Given the description of an element on the screen output the (x, y) to click on. 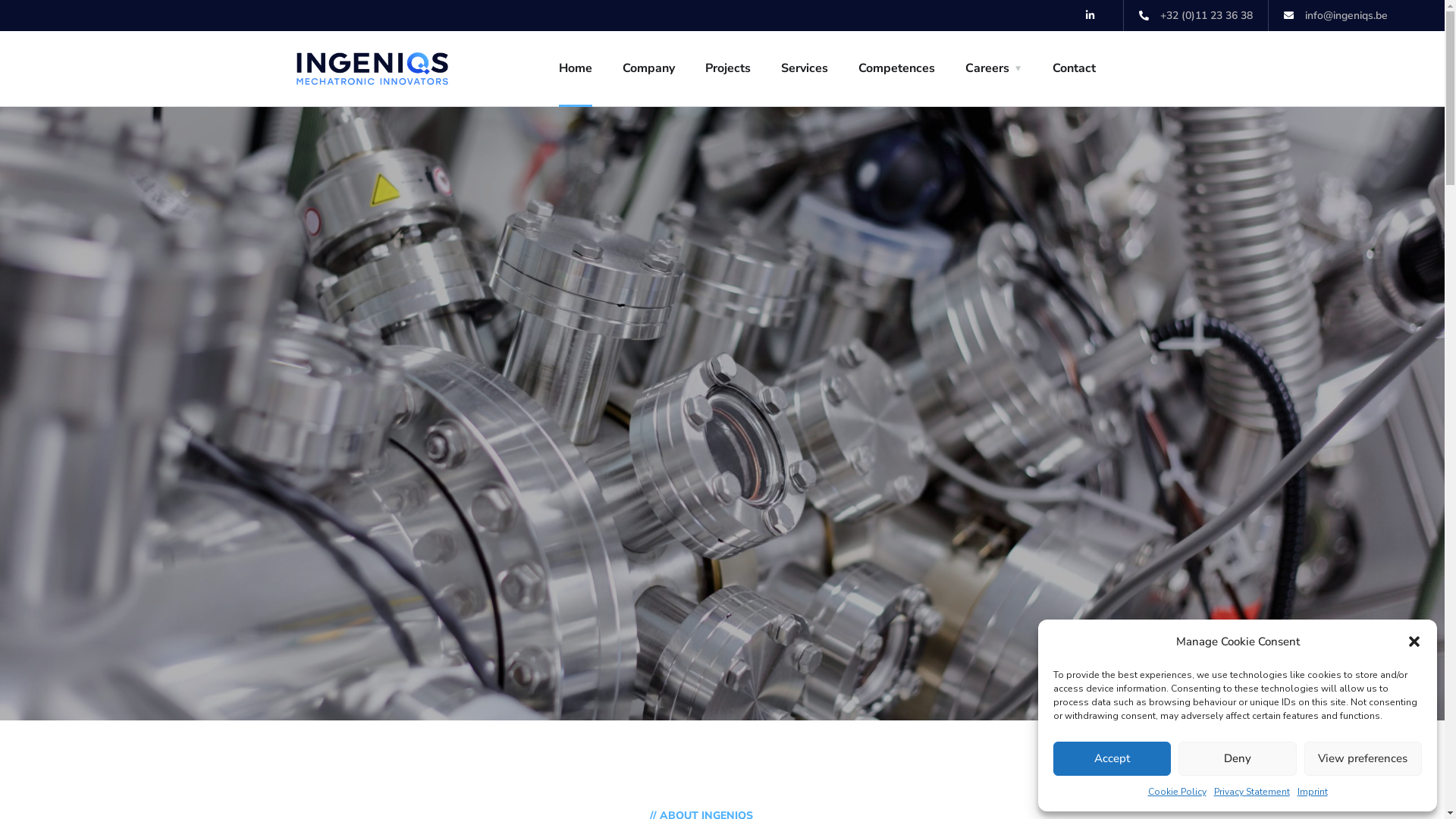
Home Element type: text (574, 68)
info@ingeniqs.be Element type: text (1335, 15)
Cookie Policy Element type: text (1177, 791)
+32 (0)11 23 36 38 Element type: text (1195, 15)
CAREERS Element type: text (721, 708)
Company Element type: text (647, 68)
View preferences Element type: text (1362, 758)
Contact Element type: text (1073, 68)
Services Element type: text (804, 68)
Careers Element type: text (992, 68)
Projects Element type: text (727, 68)
Accept Element type: text (1111, 758)
Competences Element type: text (896, 68)
Imprint Element type: text (1311, 791)
Deny Element type: text (1236, 758)
Privacy Statement Element type: text (1251, 791)
